Given the description of an element on the screen output the (x, y) to click on. 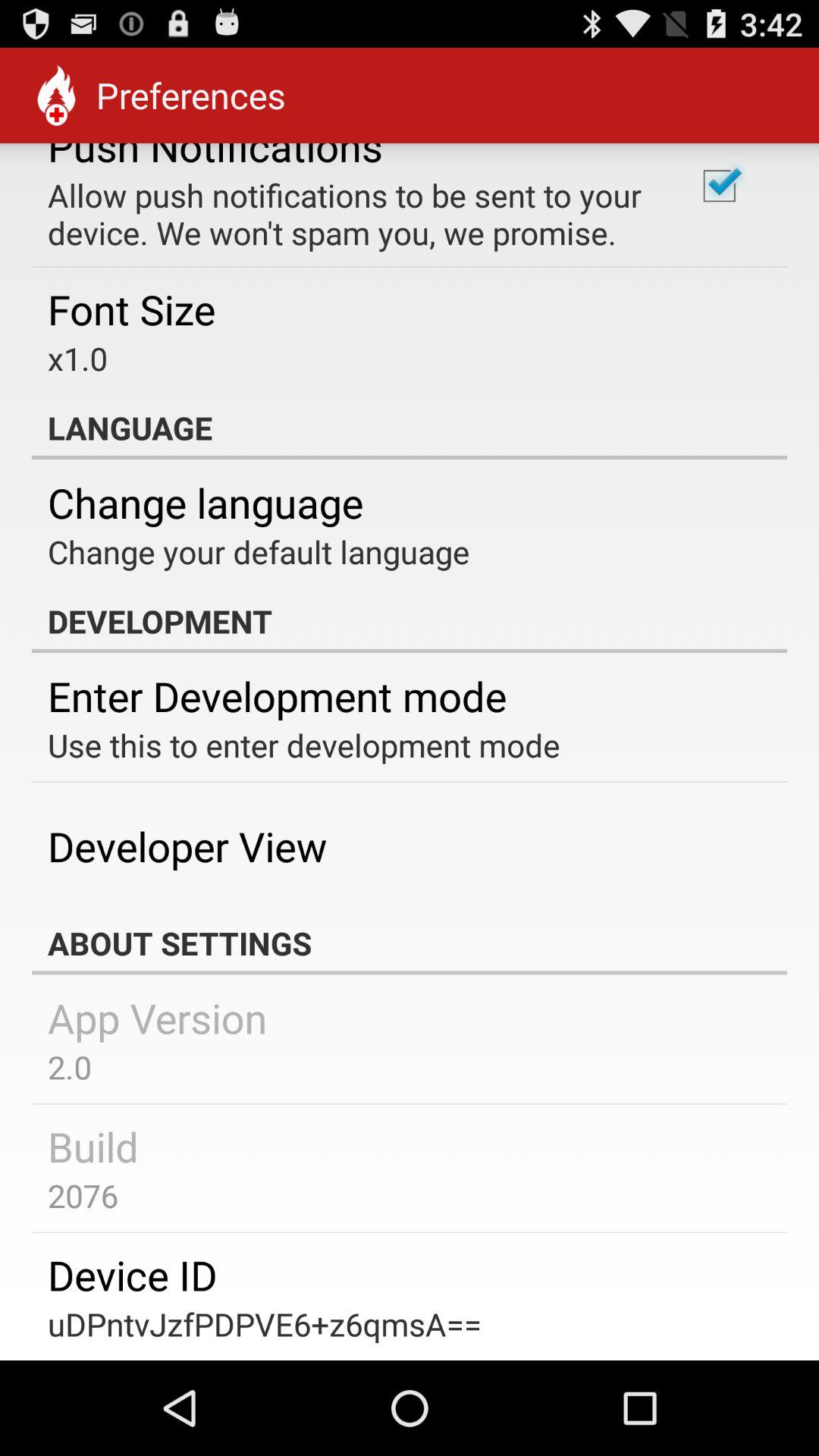
open the icon above the device id (82, 1195)
